Given the description of an element on the screen output the (x, y) to click on. 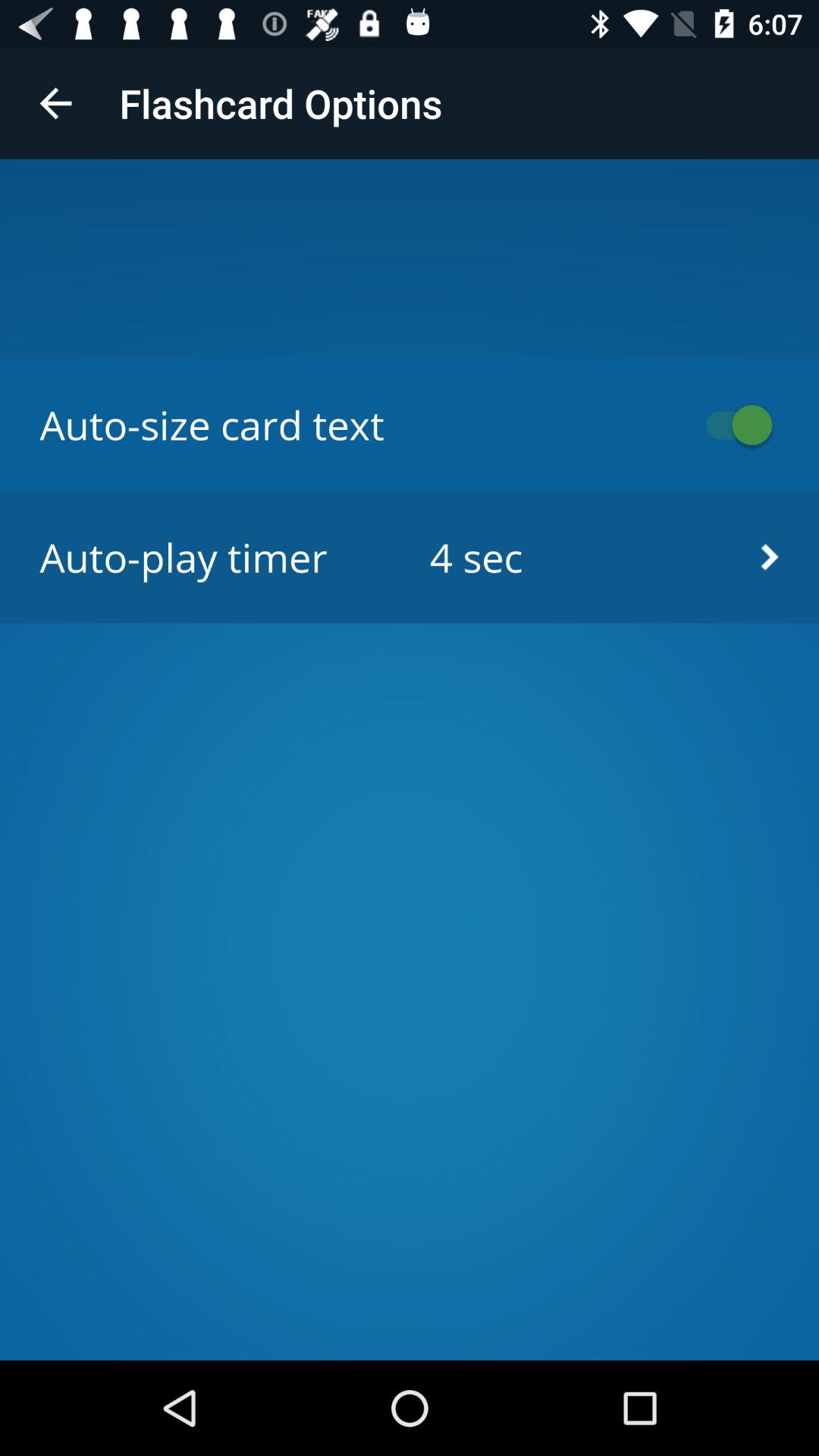
turn on icon at the center (409, 556)
